Given the description of an element on the screen output the (x, y) to click on. 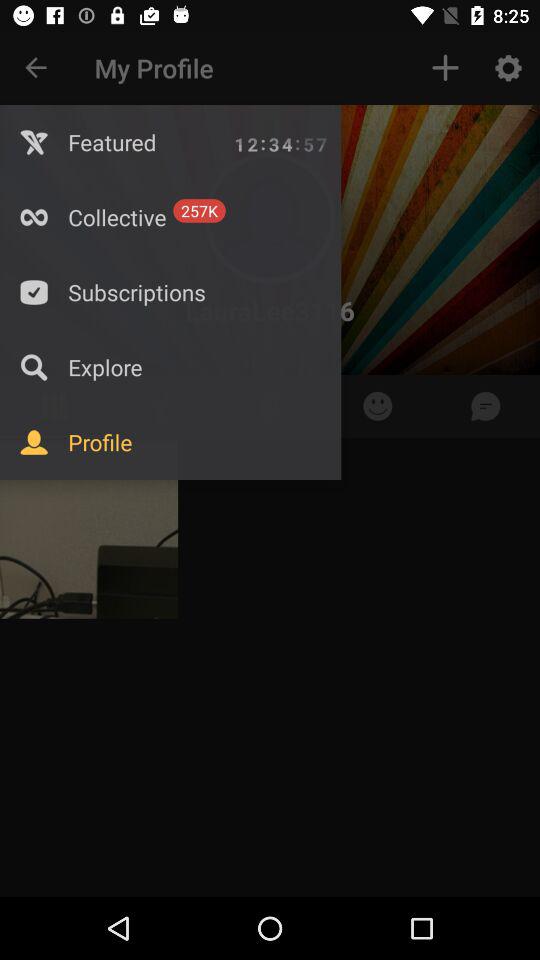
click icon to the left of the my profile item (36, 68)
